Given the description of an element on the screen output the (x, y) to click on. 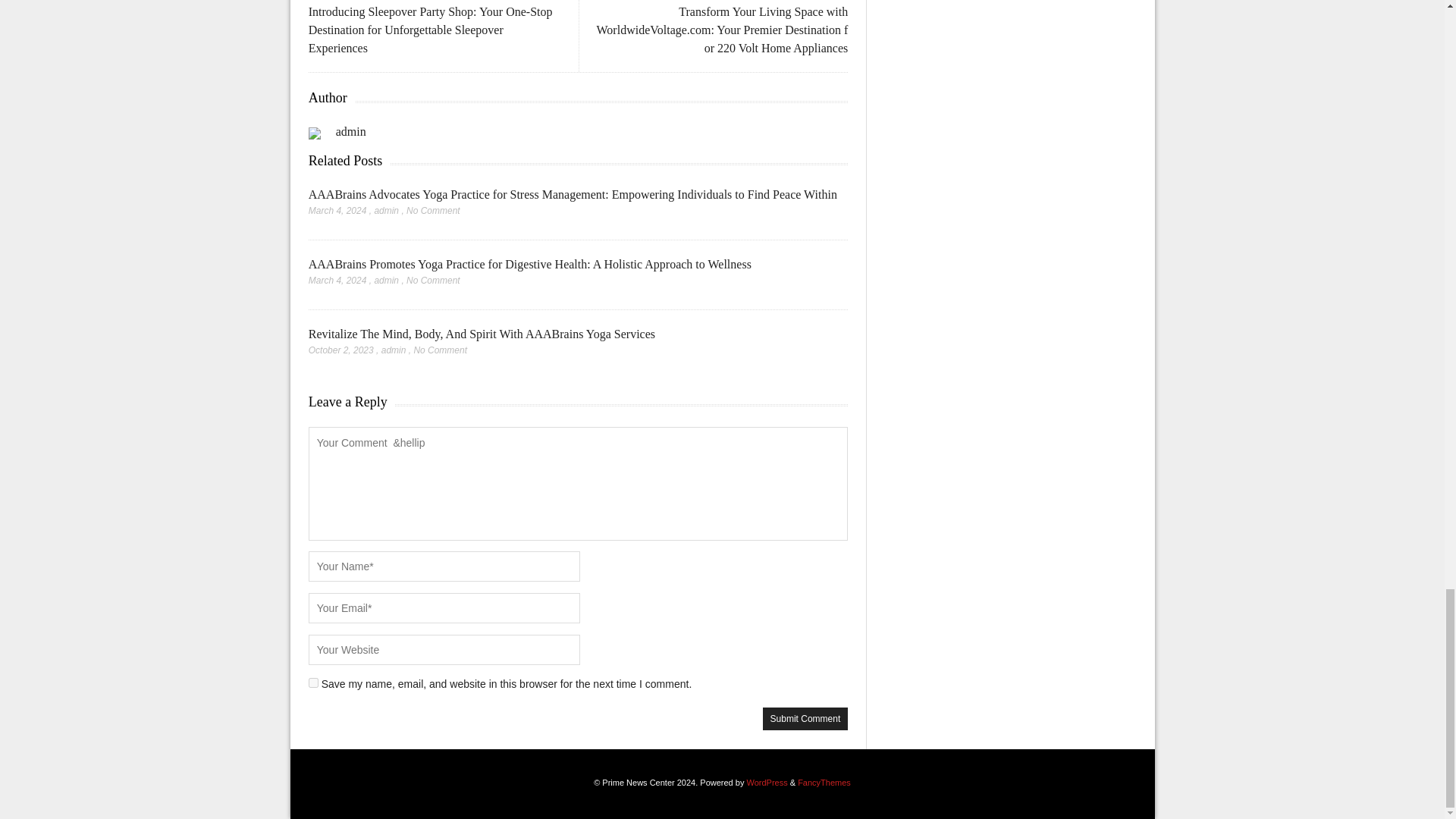
admin (386, 210)
admin (393, 349)
WordPress (766, 782)
yes (313, 682)
No Comment (433, 210)
admin (386, 280)
